Given the description of an element on the screen output the (x, y) to click on. 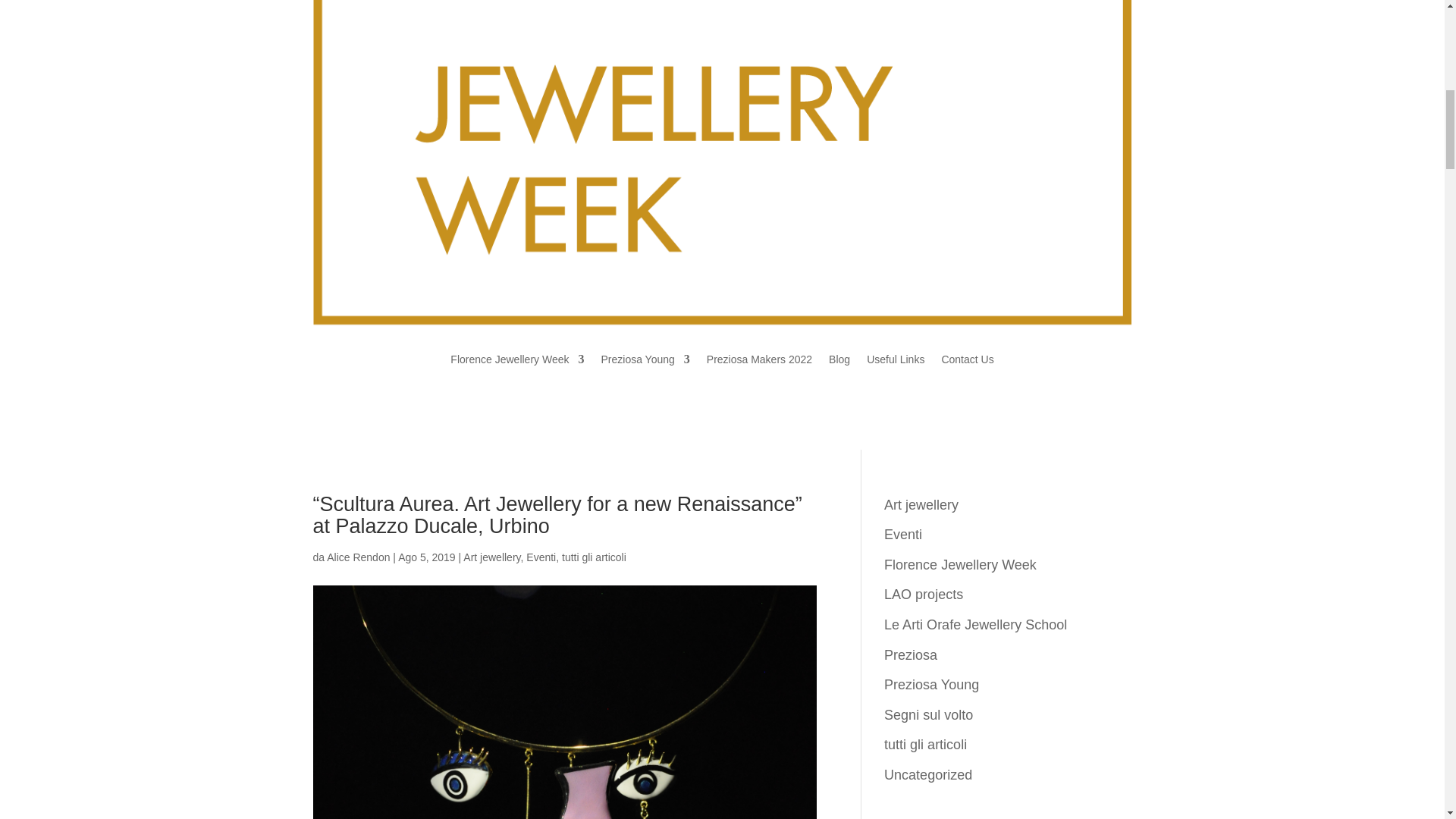
Useful Links (895, 359)
Alice Rendon (358, 557)
Florence Jewellery Week (516, 359)
Contact Us (966, 359)
Preziosa Makers 2022 (759, 359)
Post di Alice Rendon (358, 557)
Preziosa Young (643, 359)
